Given the description of an element on the screen output the (x, y) to click on. 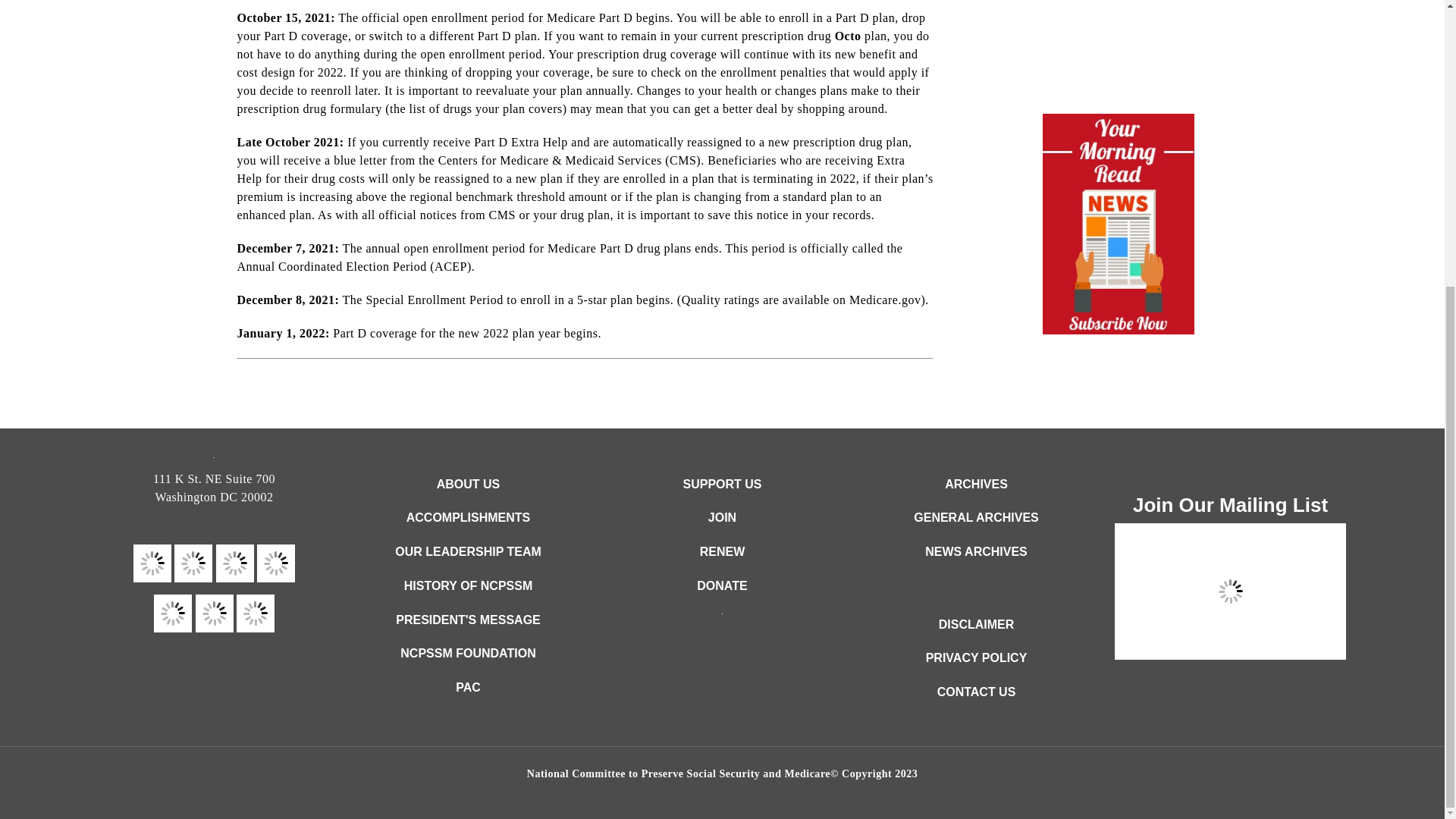
Follow Us on Twitter (193, 563)
Like Our Facebook Page (152, 563)
Watch Our YouTube Videos (276, 563)
See Our Photos on Pinterest (173, 613)
Connect with us on LinkedIn (213, 613)
Visit us on Instagram (255, 613)
Check us out on Tumblr (234, 563)
